Given the description of an element on the screen output the (x, y) to click on. 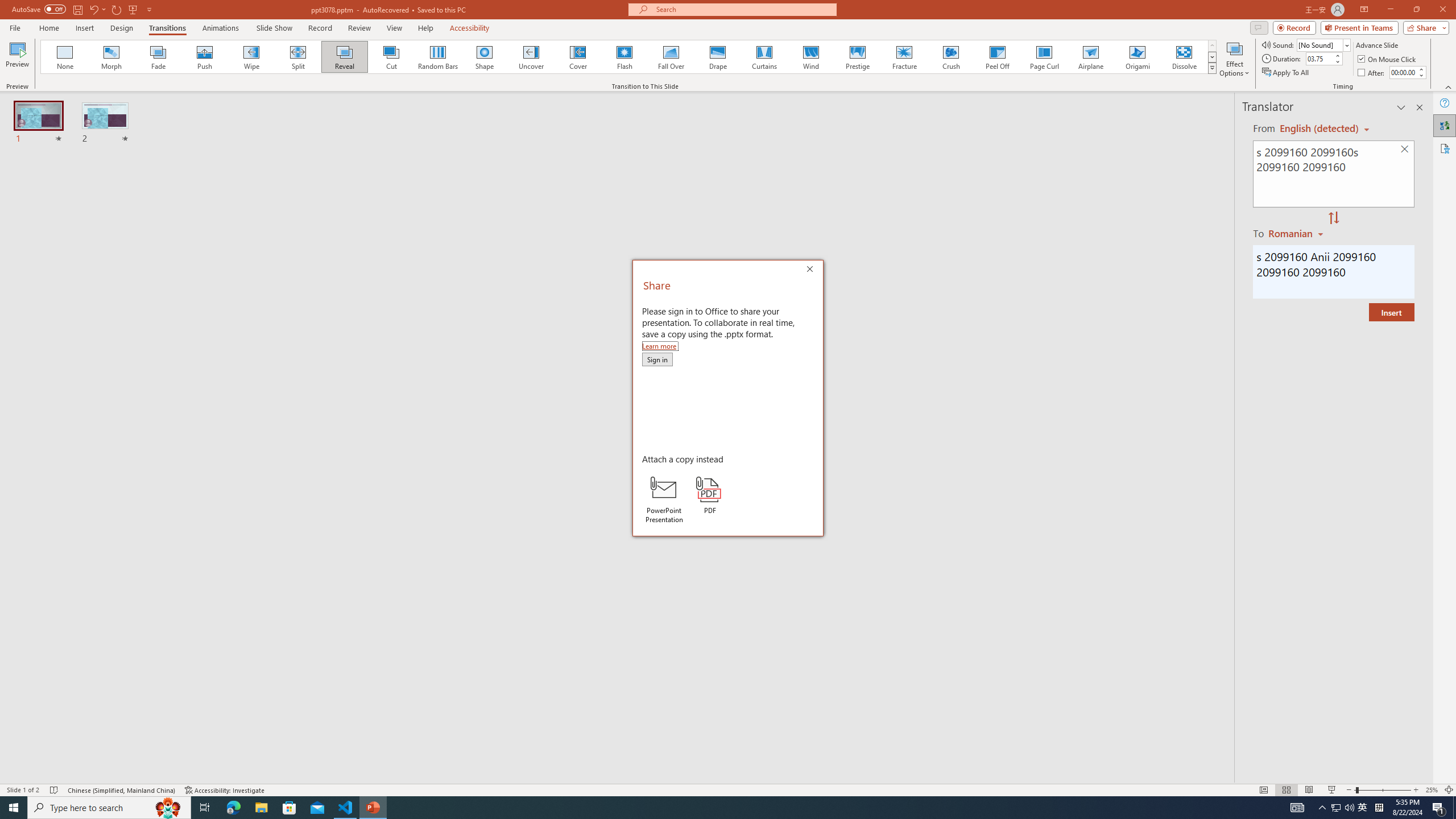
Uncover (531, 56)
Transition Effects (1212, 67)
Action Center, 1 new notification (1439, 807)
Sound (1324, 44)
Push (205, 56)
